Given the description of an element on the screen output the (x, y) to click on. 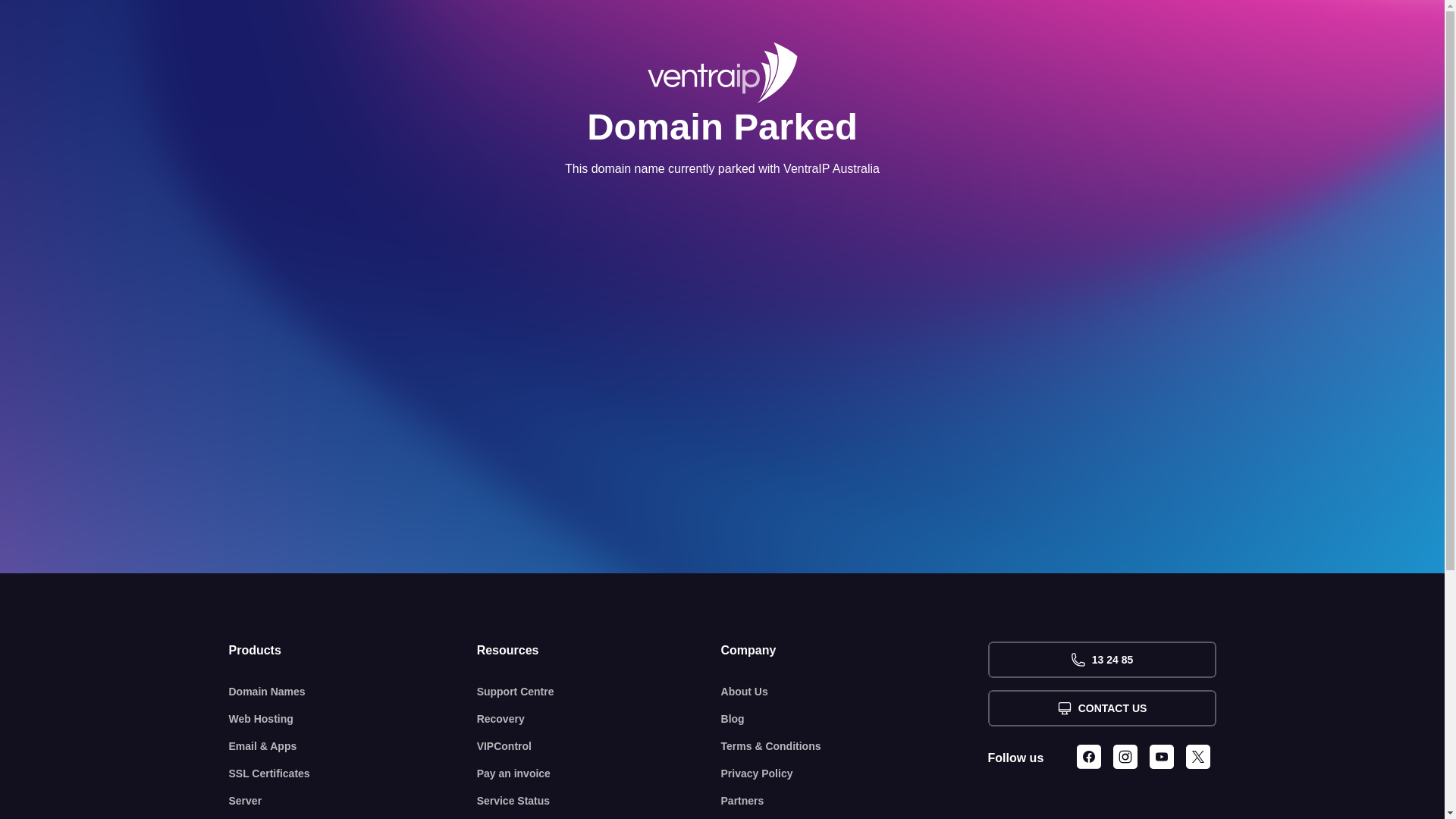
Blog Element type: text (854, 718)
VIPControl Element type: text (598, 745)
CONTACT US Element type: text (1101, 708)
Pay an invoice Element type: text (598, 773)
Service Status Element type: text (598, 800)
Terms & Conditions Element type: text (854, 745)
SSL Certificates Element type: text (352, 773)
Web Hosting Element type: text (352, 718)
Email & Apps Element type: text (352, 745)
Recovery Element type: text (598, 718)
Support Centre Element type: text (598, 691)
Partners Element type: text (854, 800)
Domain Names Element type: text (352, 691)
Server Element type: text (352, 800)
About Us Element type: text (854, 691)
Privacy Policy Element type: text (854, 773)
13 24 85 Element type: text (1101, 659)
